Given the description of an element on the screen output the (x, y) to click on. 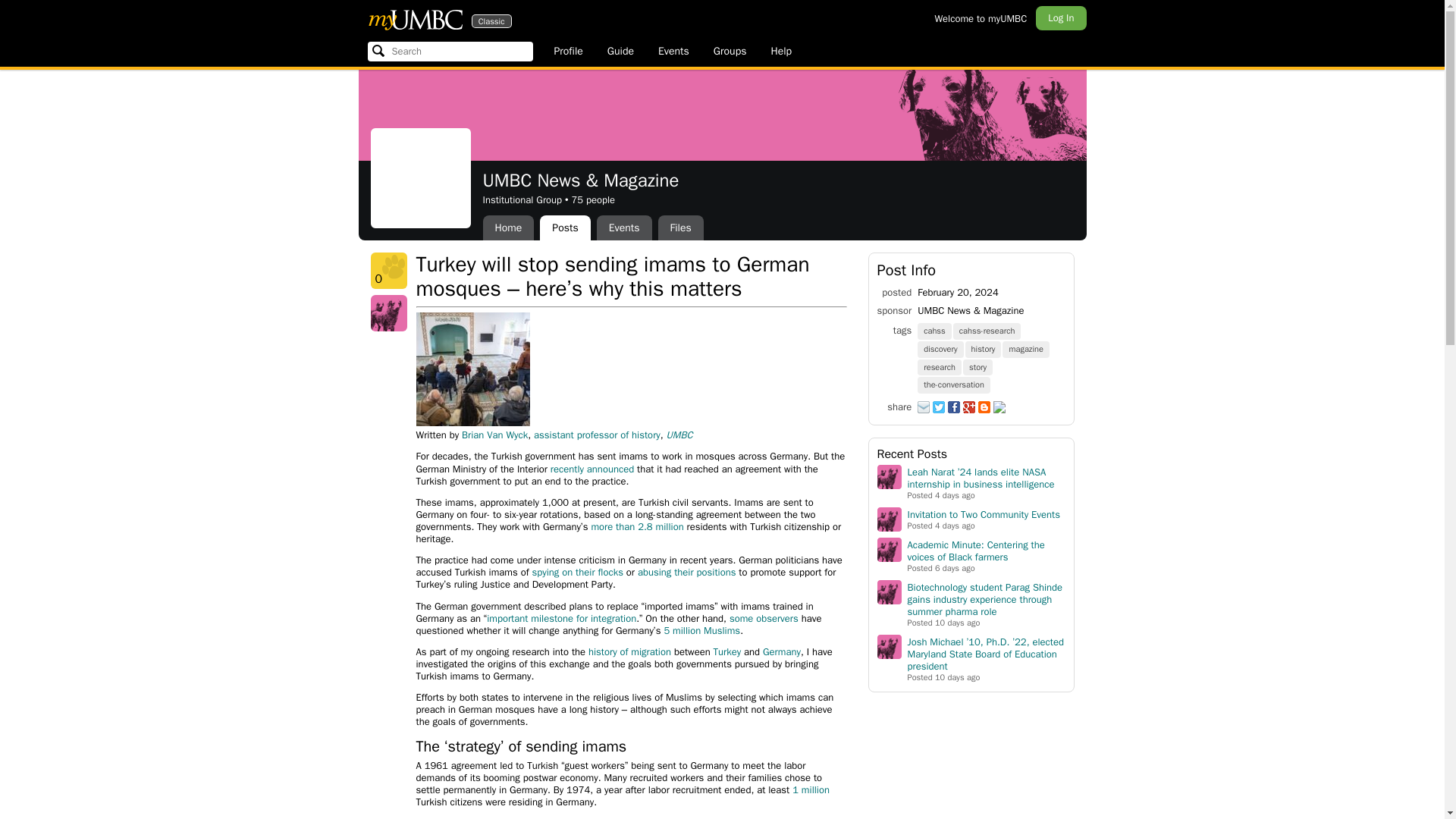
assistant professor of history (597, 434)
5 million Muslims (701, 630)
Groups (729, 51)
Help (780, 51)
Events (673, 51)
myUMBC (414, 19)
Files (414, 19)
some observers (680, 227)
UMBC (763, 617)
